Given the description of an element on the screen output the (x, y) to click on. 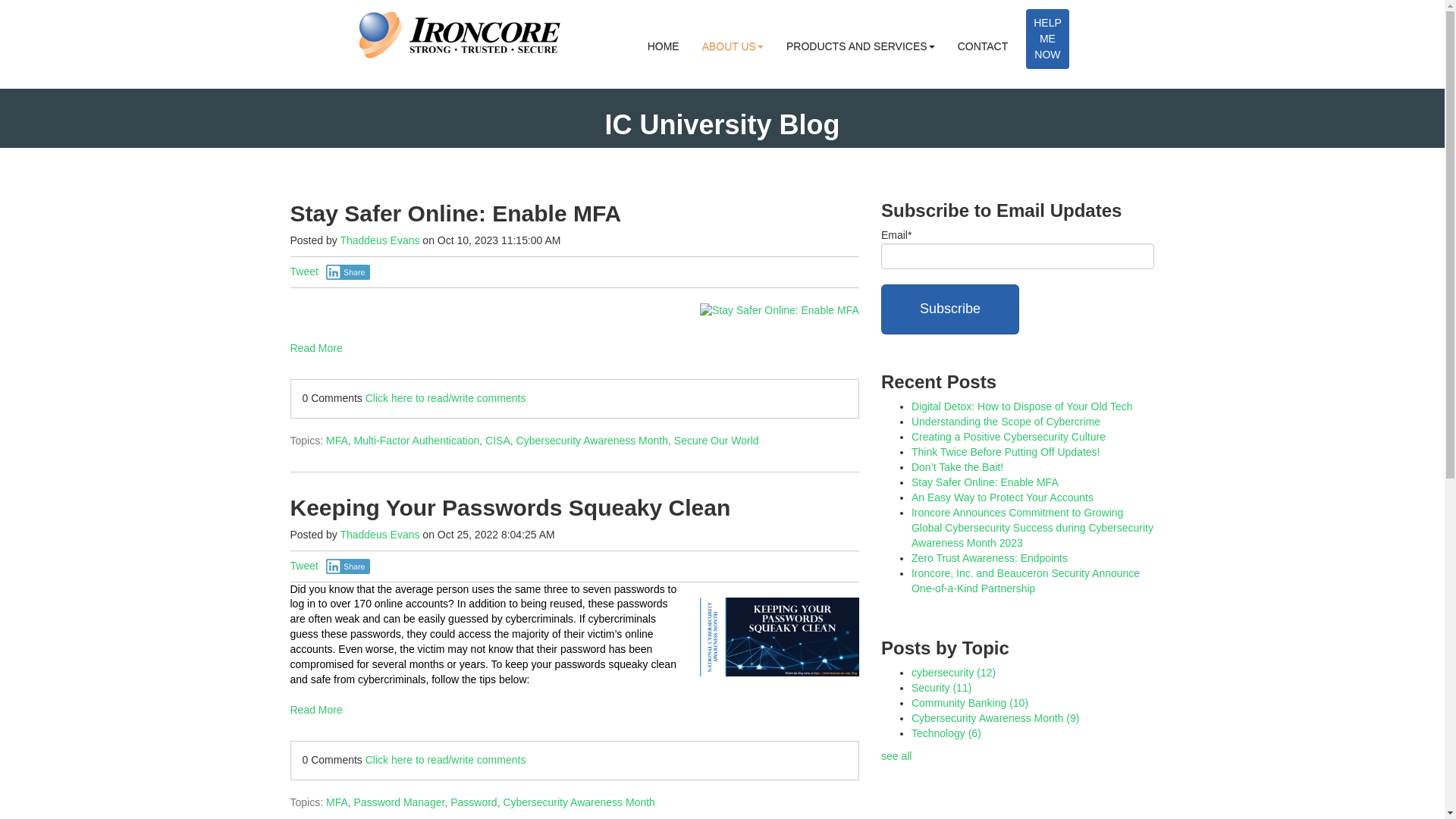
Share (348, 272)
Multi-Factor Authentication (416, 440)
Cybersecurity Awareness Month (592, 440)
CISA (497, 440)
Read More (574, 710)
Keeping Your Passwords Squeaky Clean (509, 507)
ABOUT US (732, 46)
Tweet (303, 565)
Tweet (303, 271)
MFA (336, 802)
Thaddeus Evans (379, 534)
Stay Safer Online: Enable MFA (455, 213)
MFA (336, 440)
Share (348, 565)
Read More (574, 348)
